Given the description of an element on the screen output the (x, y) to click on. 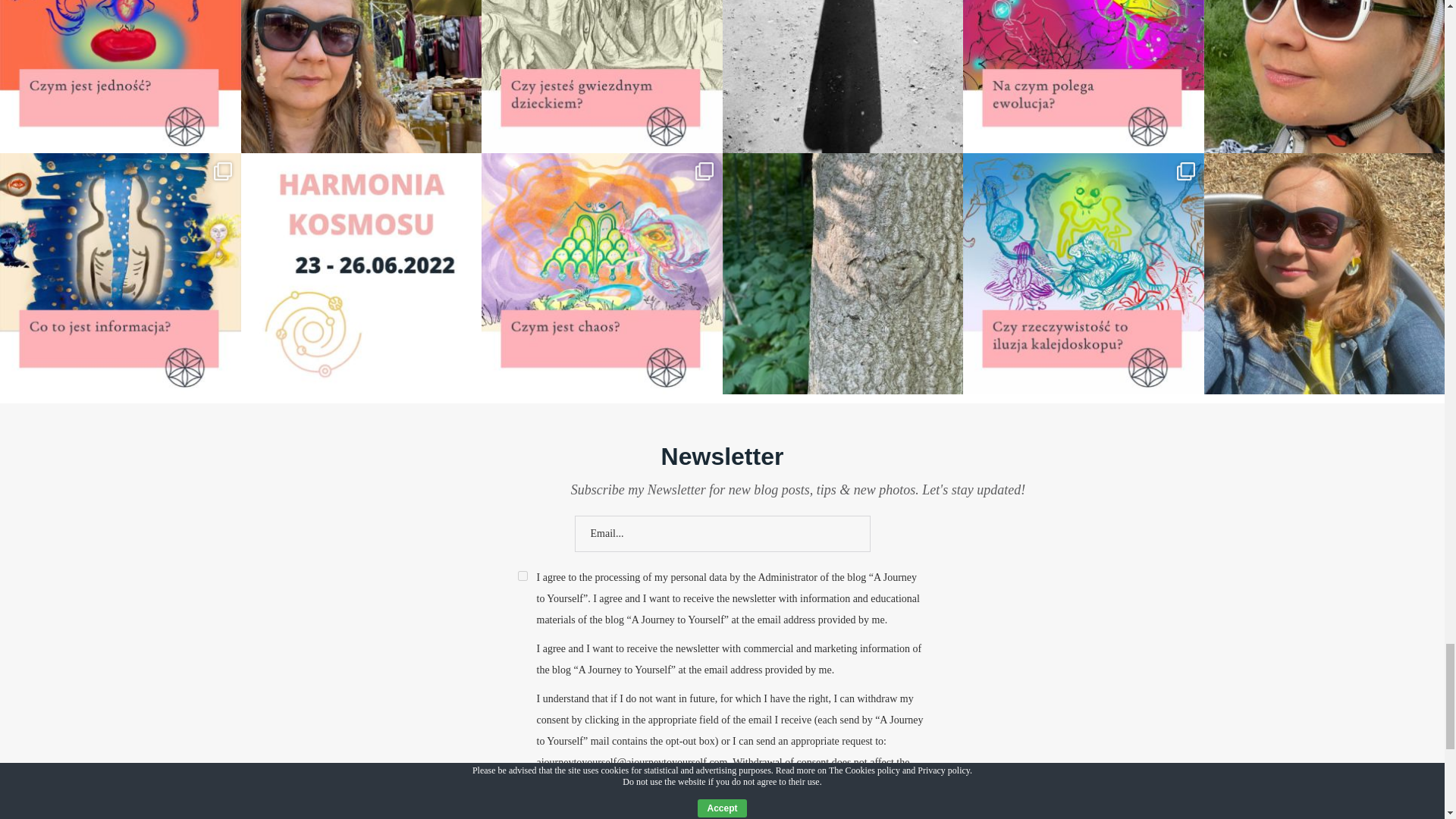
1 (521, 575)
